Given the description of an element on the screen output the (x, y) to click on. 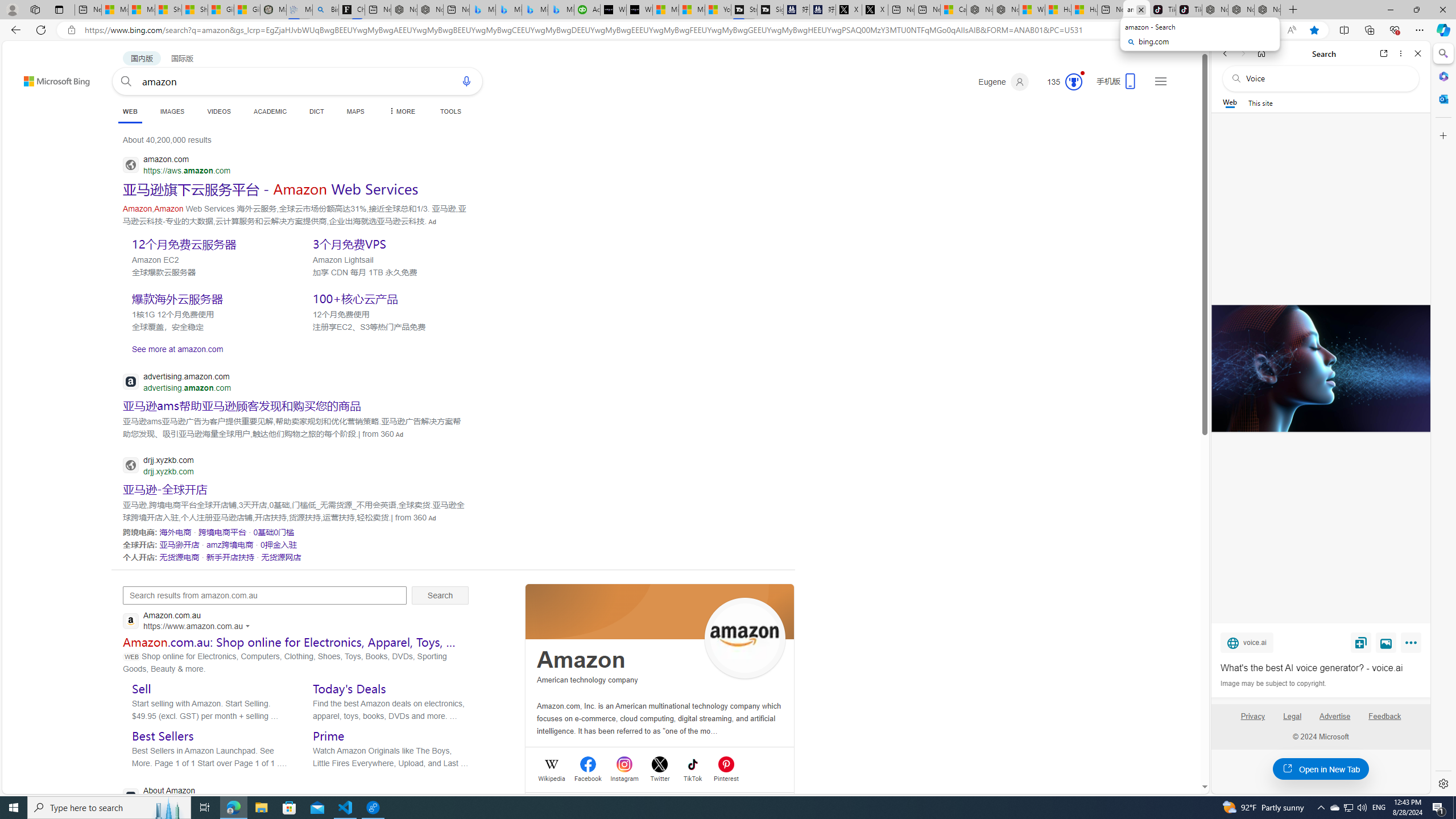
SERP,5566 (175, 532)
voice.ai (1247, 642)
Prime (329, 735)
American technology company (587, 679)
AutomationID: mfa_root (1161, 752)
SERP,5552 (207, 298)
Nordace - #1 Japanese Best-Seller - Siena Smart Backpack (430, 9)
Today's Deals (349, 688)
WEB (129, 111)
Nordace - Best Sellers (1214, 9)
Privacy (1252, 715)
